Given the description of an element on the screen output the (x, y) to click on. 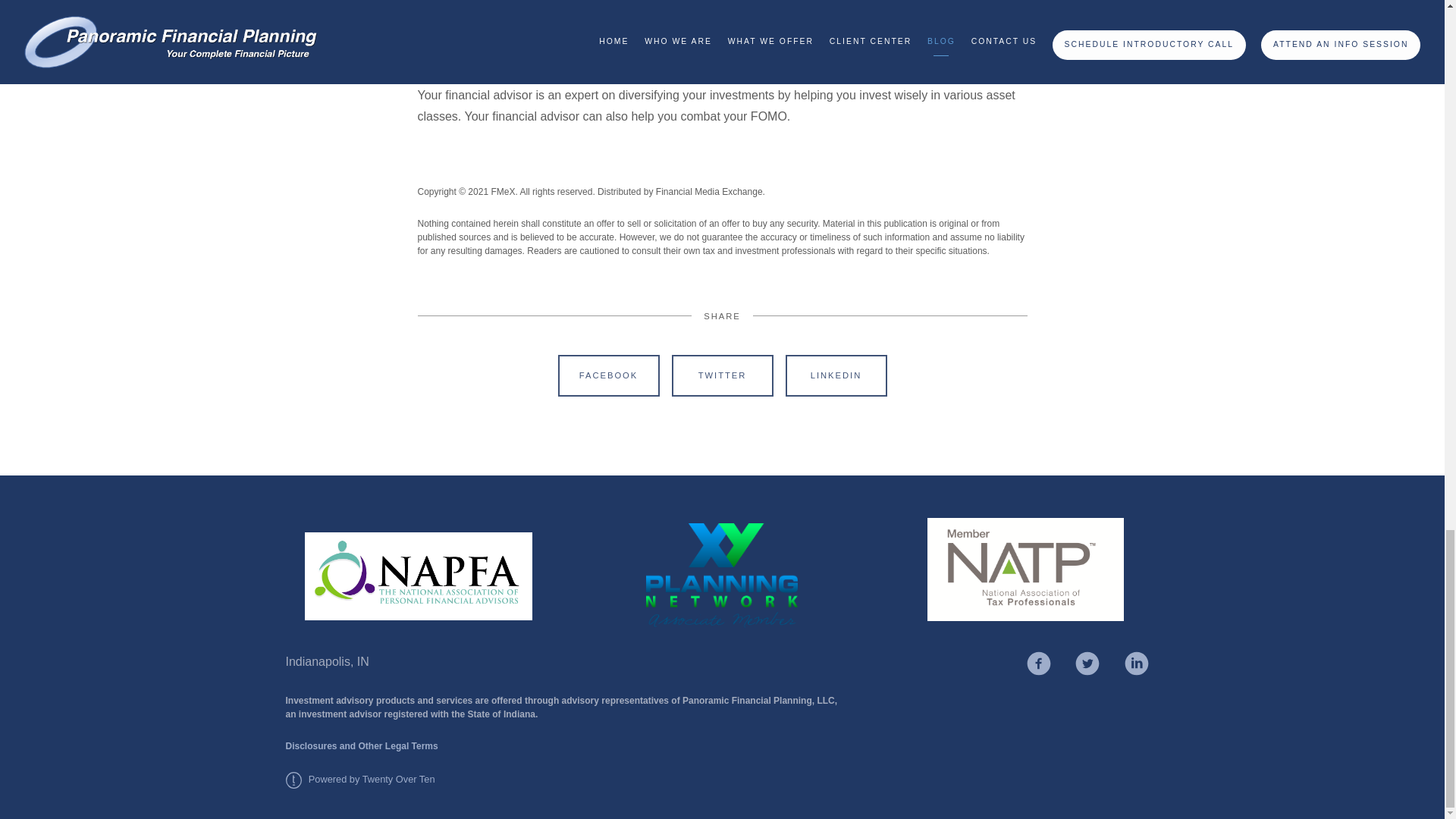
TWITTER (722, 375)
Disclosures and Other Legal Terms (361, 746)
Powered by Twenty Over Ten (359, 778)
FACEBOOK (608, 375)
LINKEDIN (836, 375)
